Given the description of an element on the screen output the (x, y) to click on. 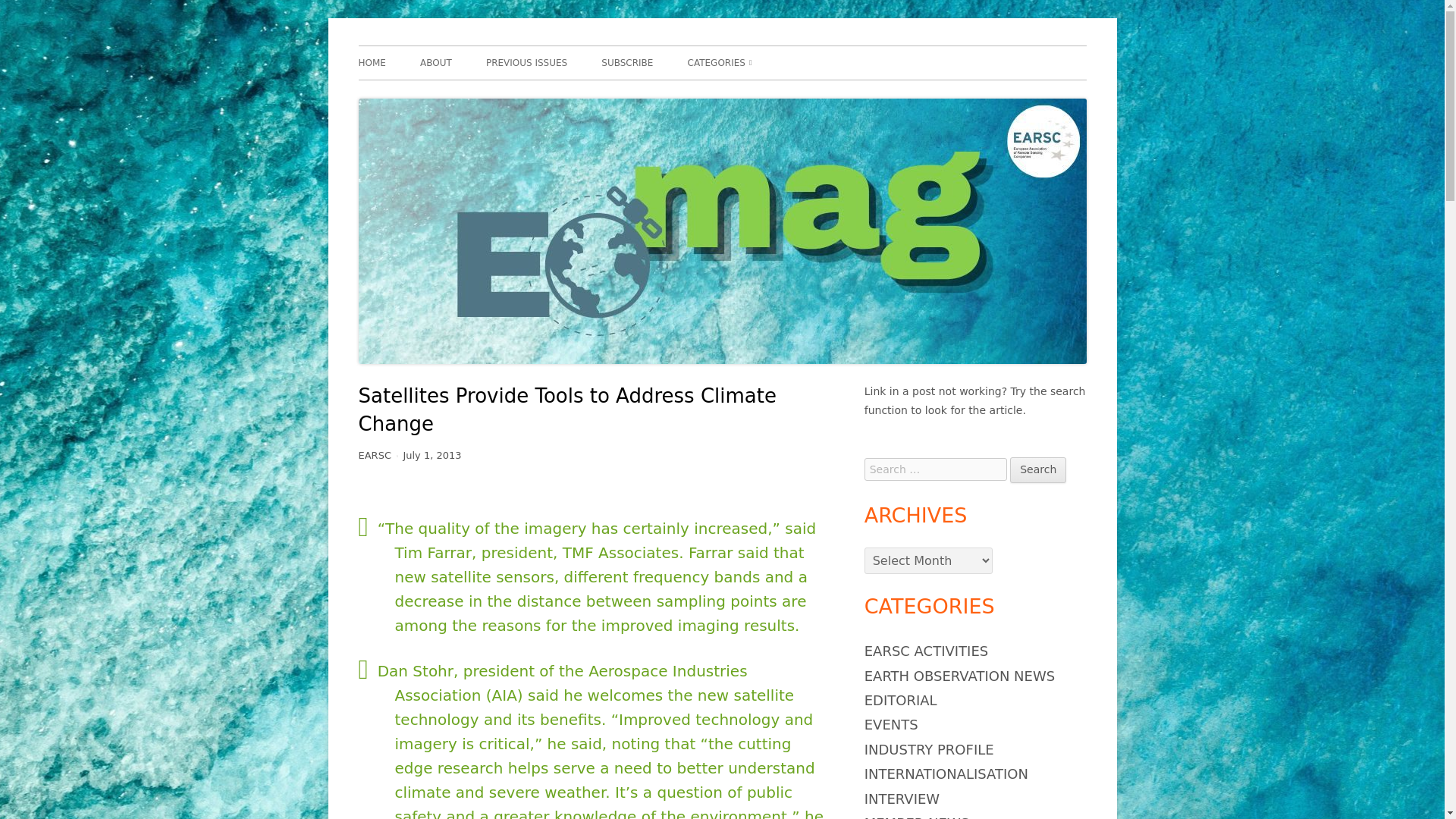
EDITORIAL (900, 700)
EARTH OBSERVATION NEWS (959, 675)
PREVIOUS ISSUES (526, 62)
EARTH OBSERVATION NEWS (774, 94)
SUBSCRIBE (626, 62)
July 1, 2013 (432, 455)
Search (1037, 470)
Search (1037, 470)
INDUSTRY PROFILE (929, 749)
Search (1037, 470)
MEMBER NEWS (916, 816)
EVENTS (891, 724)
ABOUT (435, 62)
INTERVIEW (901, 798)
EARSC (374, 455)
